Given the description of an element on the screen output the (x, y) to click on. 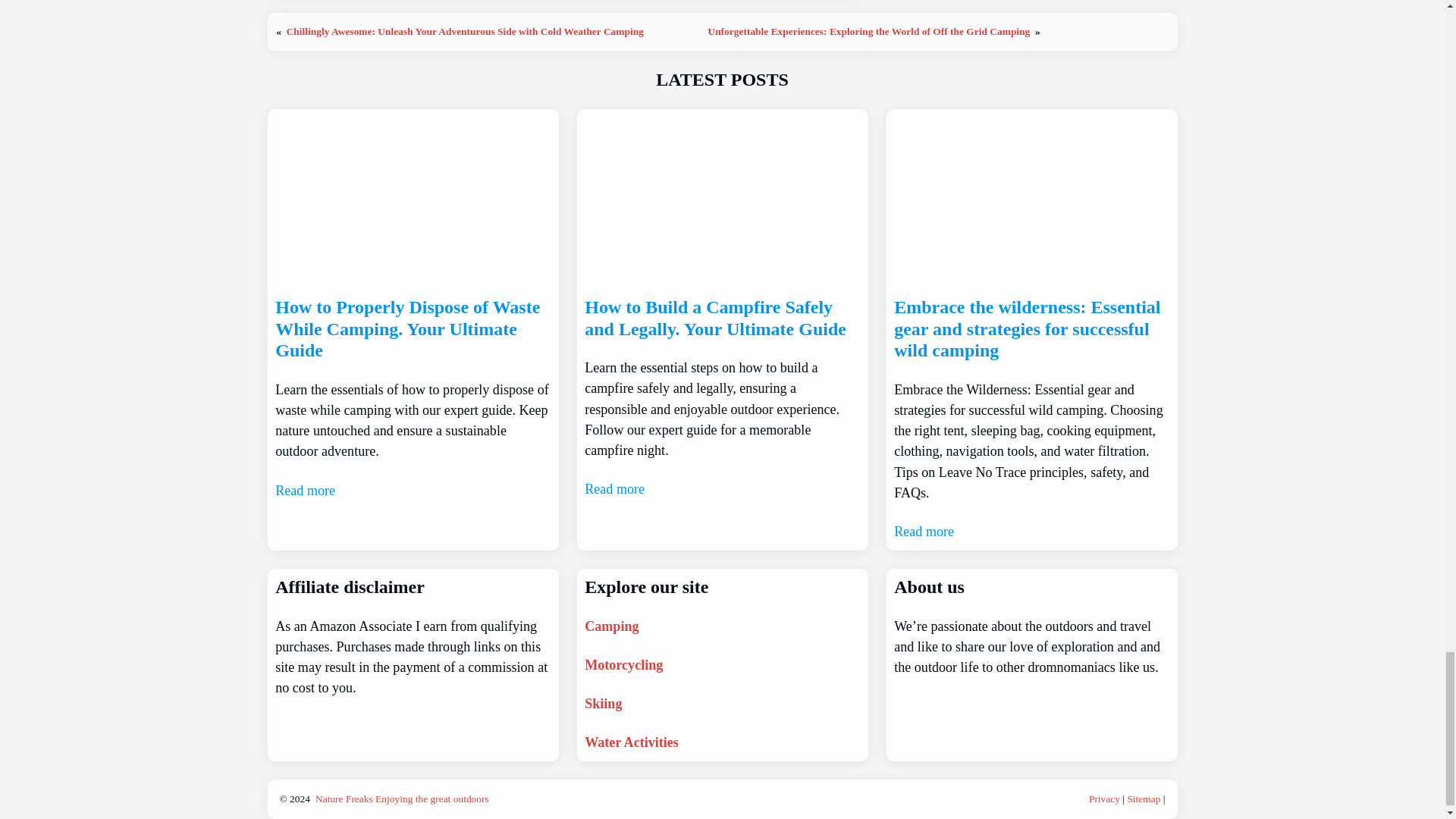
Camping (612, 626)
Read more (923, 531)
Read more (304, 490)
Motorcycling (623, 664)
Read more (615, 489)
